Given the description of an element on the screen output the (x, y) to click on. 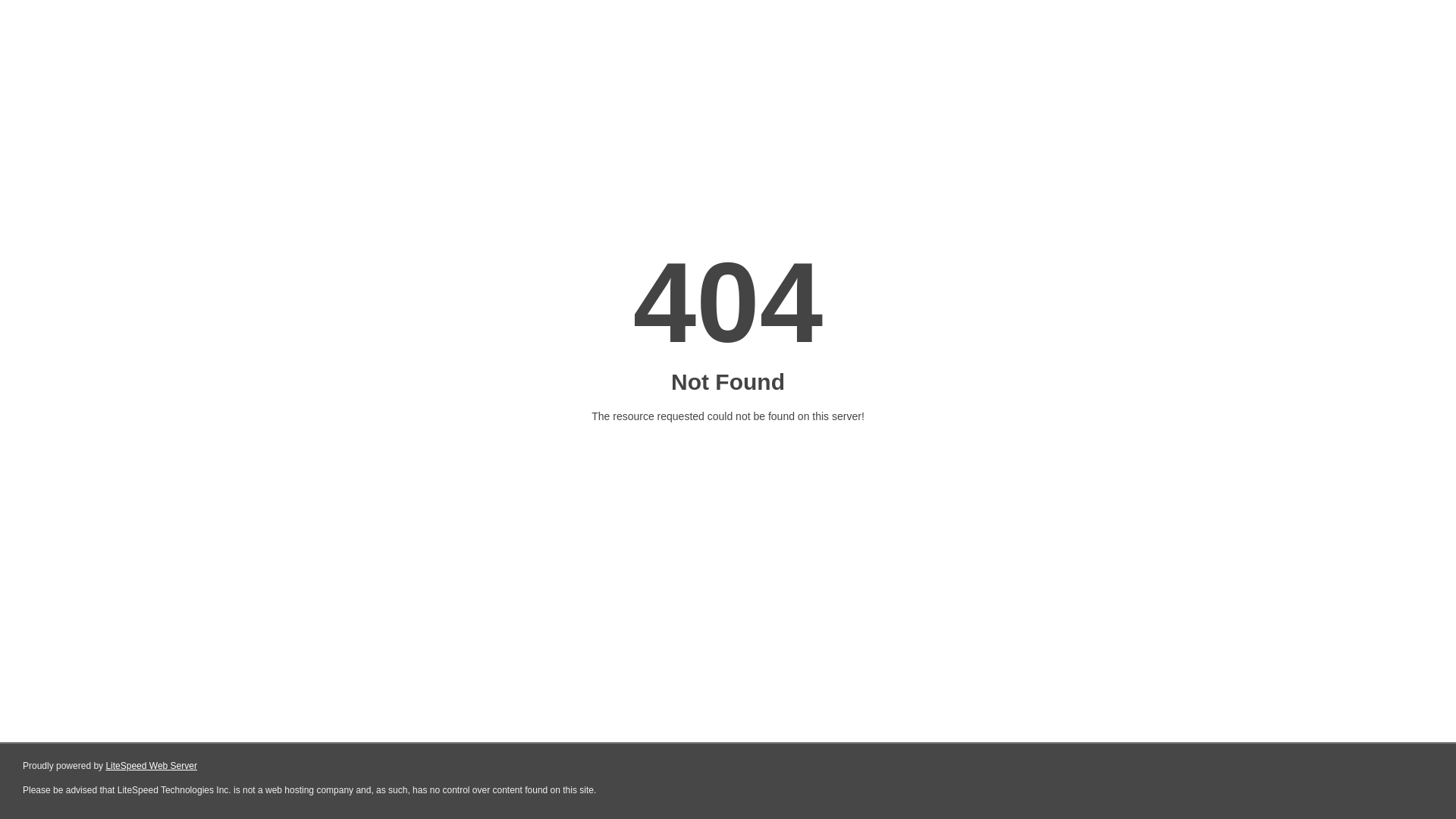
LiteSpeed Web Server Element type: text (151, 765)
